Given the description of an element on the screen output the (x, y) to click on. 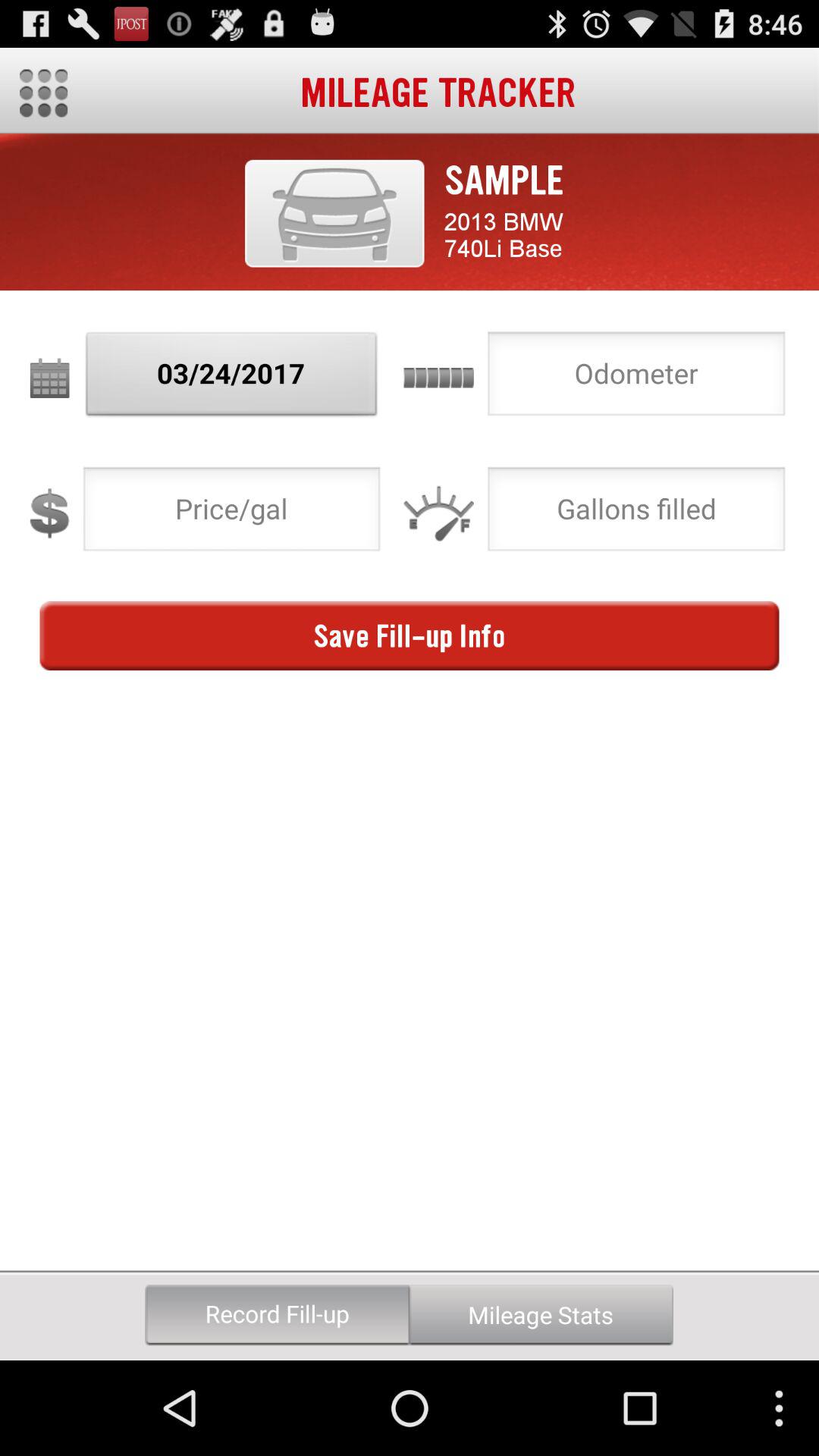
price per gallon (231, 513)
